Given the description of an element on the screen output the (x, y) to click on. 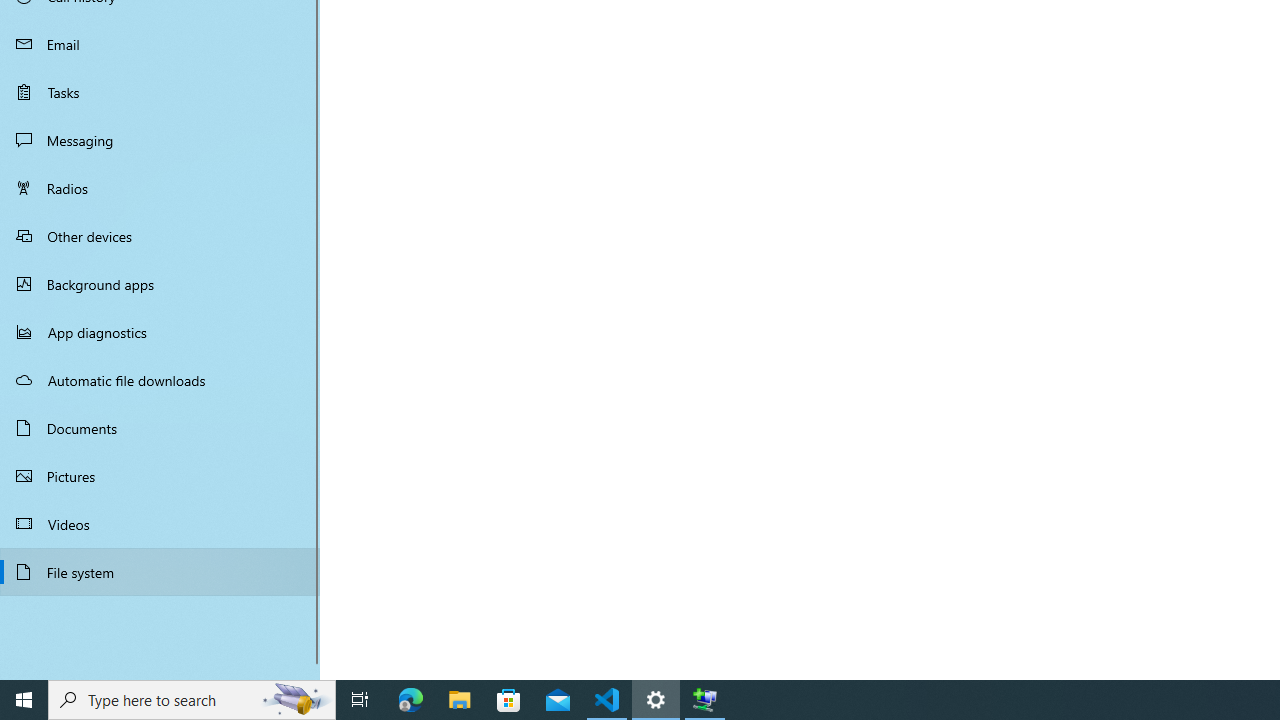
Automatic file downloads (160, 379)
Documents (160, 427)
Pictures (160, 475)
File system (160, 571)
Other devices (160, 235)
Radios (160, 187)
Messaging (160, 139)
Videos (160, 523)
